Given the description of an element on the screen output the (x, y) to click on. 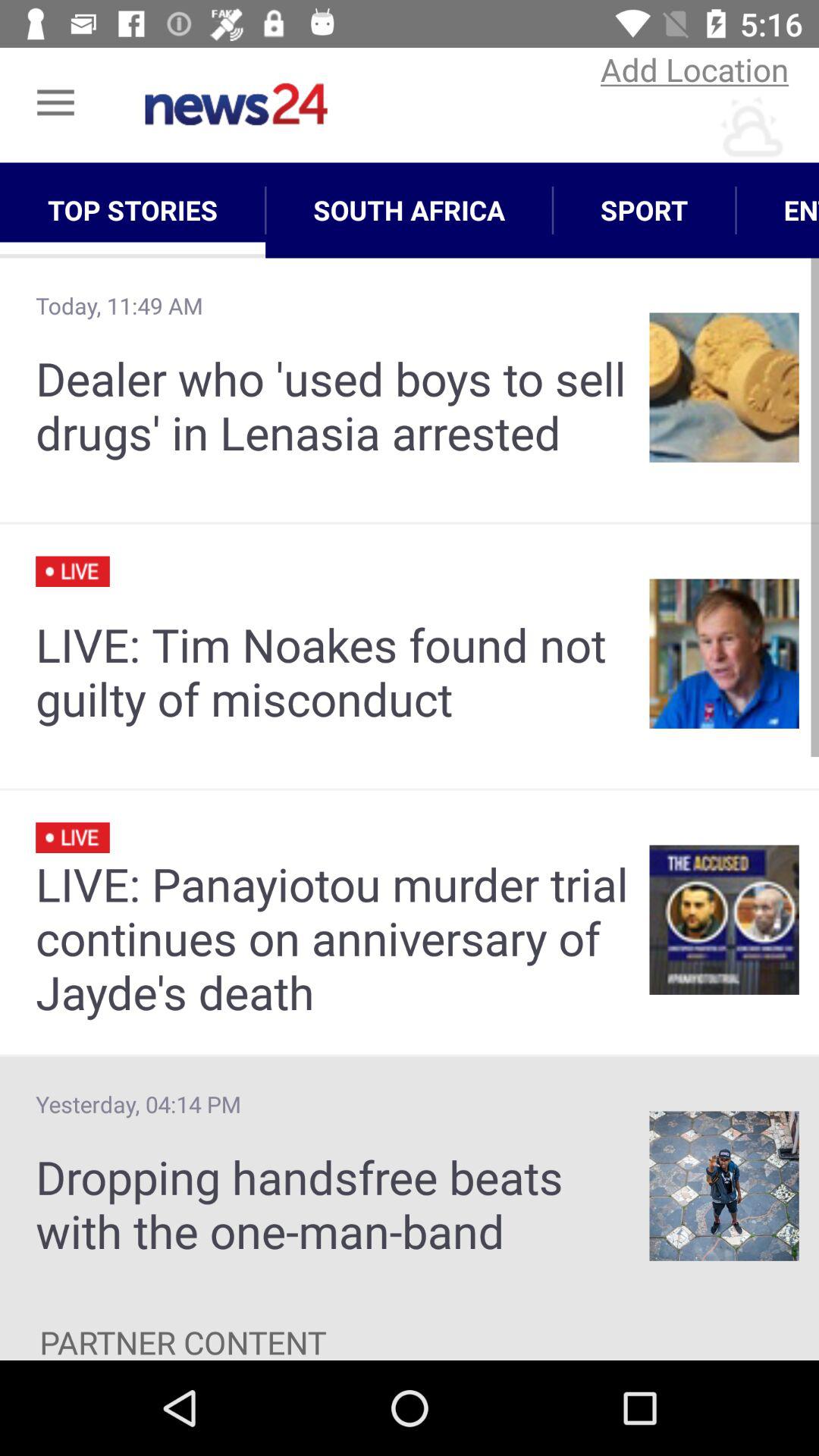
press app next to south africa app (132, 210)
